Given the description of an element on the screen output the (x, y) to click on. 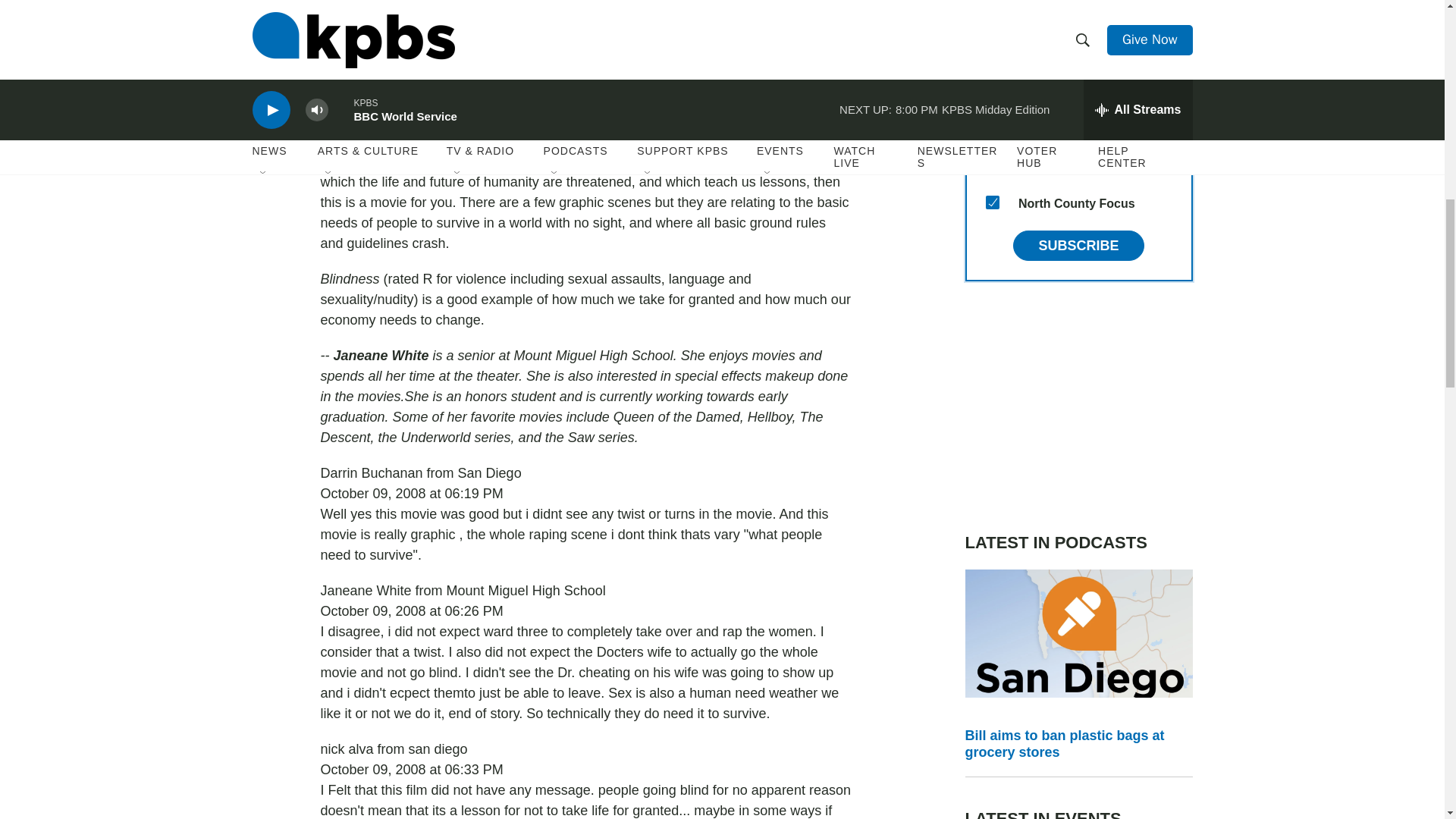
15 (991, 202)
5 (991, 20)
2 (991, 92)
6 (991, 56)
8 (991, 165)
1 (991, 129)
